Given the description of an element on the screen output the (x, y) to click on. 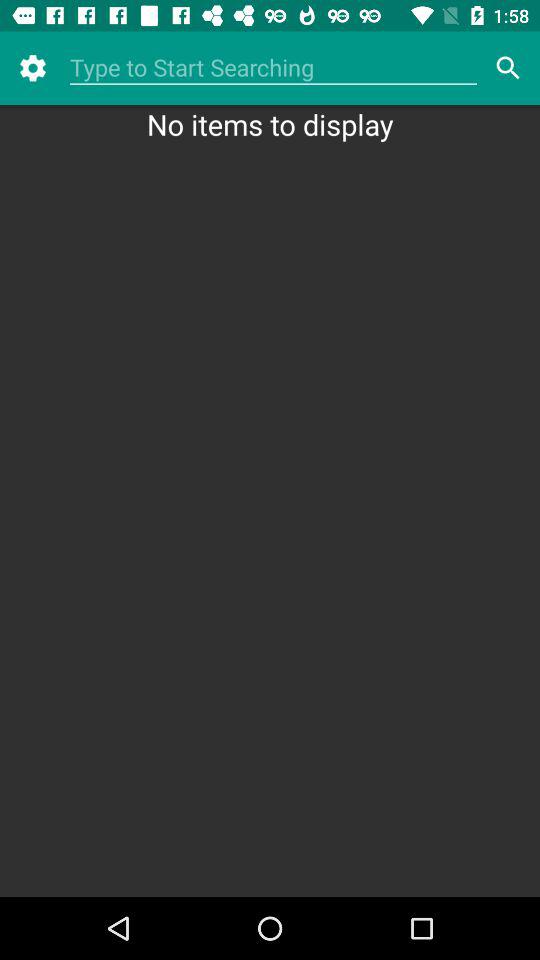
press the icon at the top left corner (32, 67)
